Given the description of an element on the screen output the (x, y) to click on. 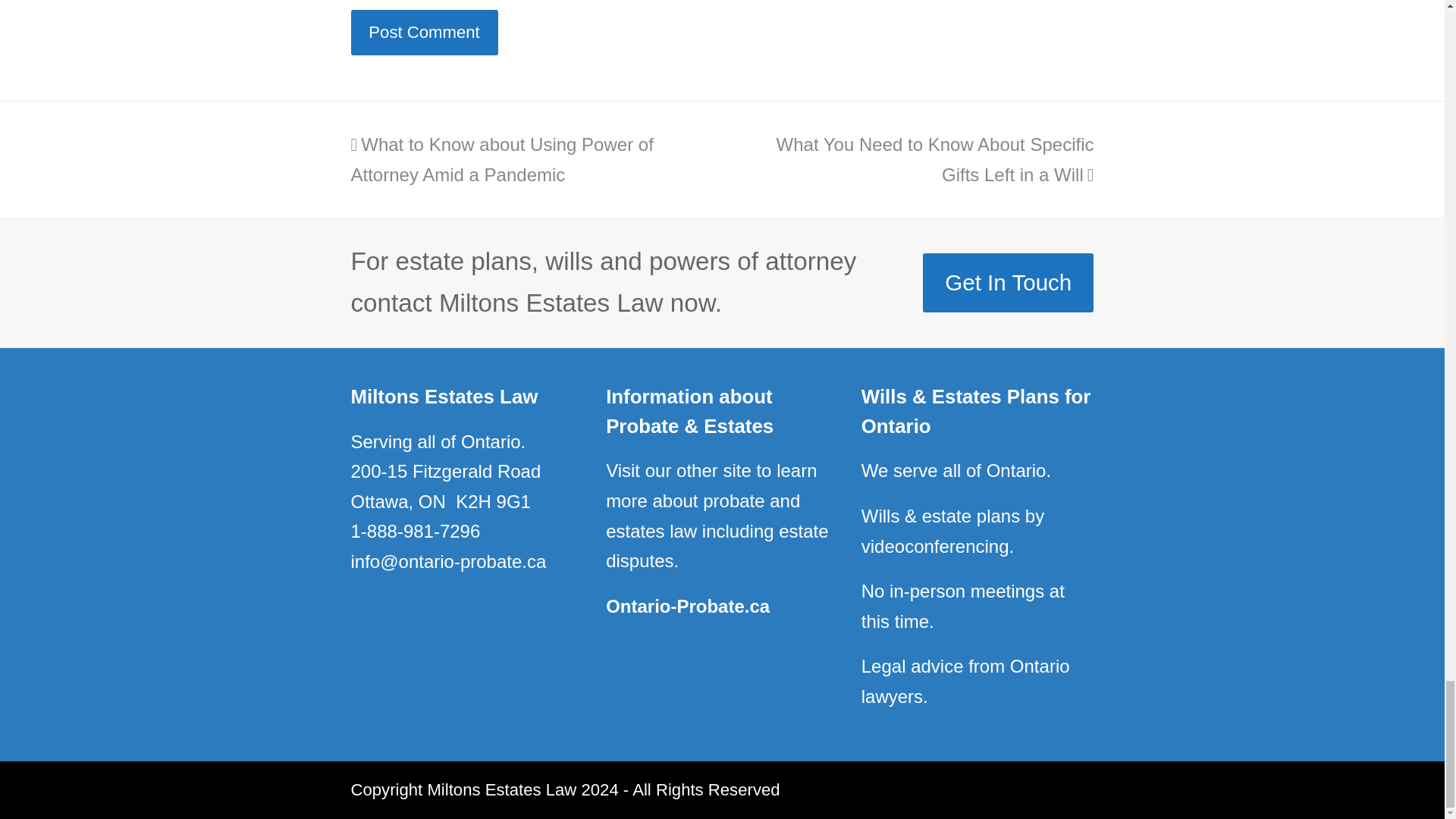
Post Comment (423, 32)
